Given the description of an element on the screen output the (x, y) to click on. 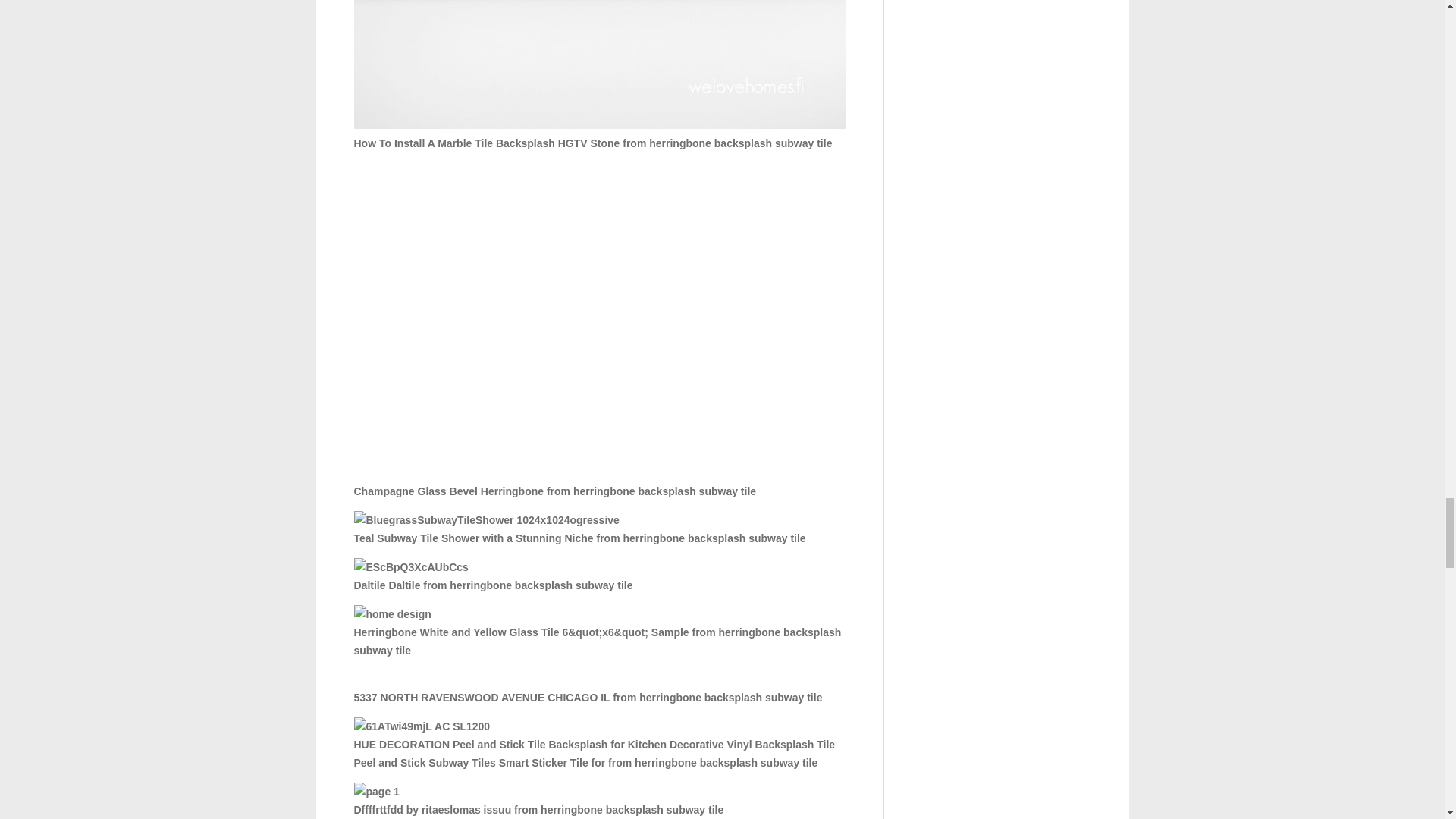
Daltile Daltile (410, 566)
How To Install A Marble Tile Backsplash HGTV Stone (598, 64)
Herringbone White and Yellow Glass Tile 6"x6" Sample (391, 614)
Teal Subway Tile Shower with a Stunning Niche (485, 520)
